Given the description of an element on the screen output the (x, y) to click on. 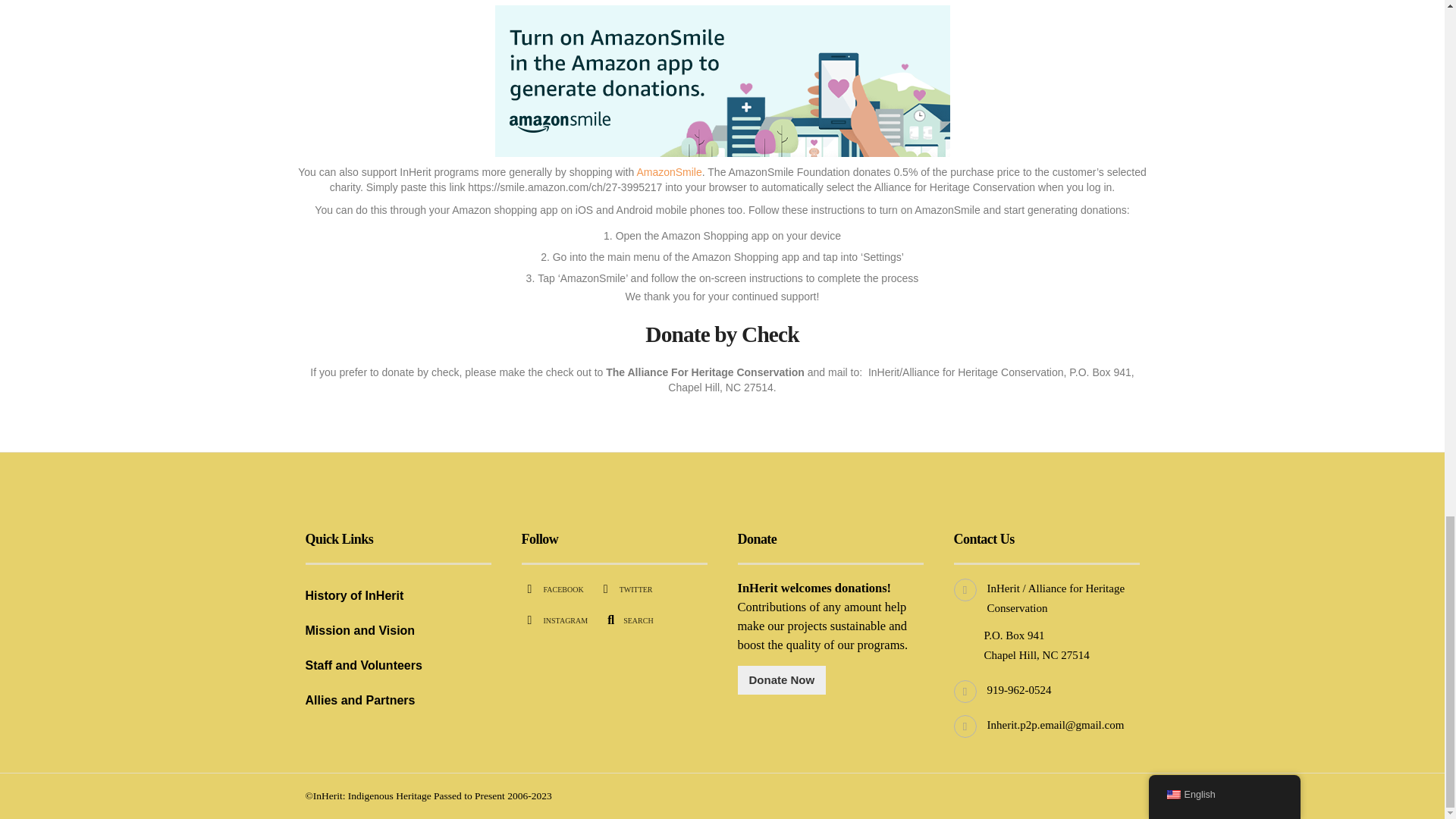
Facebook (555, 589)
Instagram (557, 621)
Twitter (627, 589)
